Given the description of an element on the screen output the (x, y) to click on. 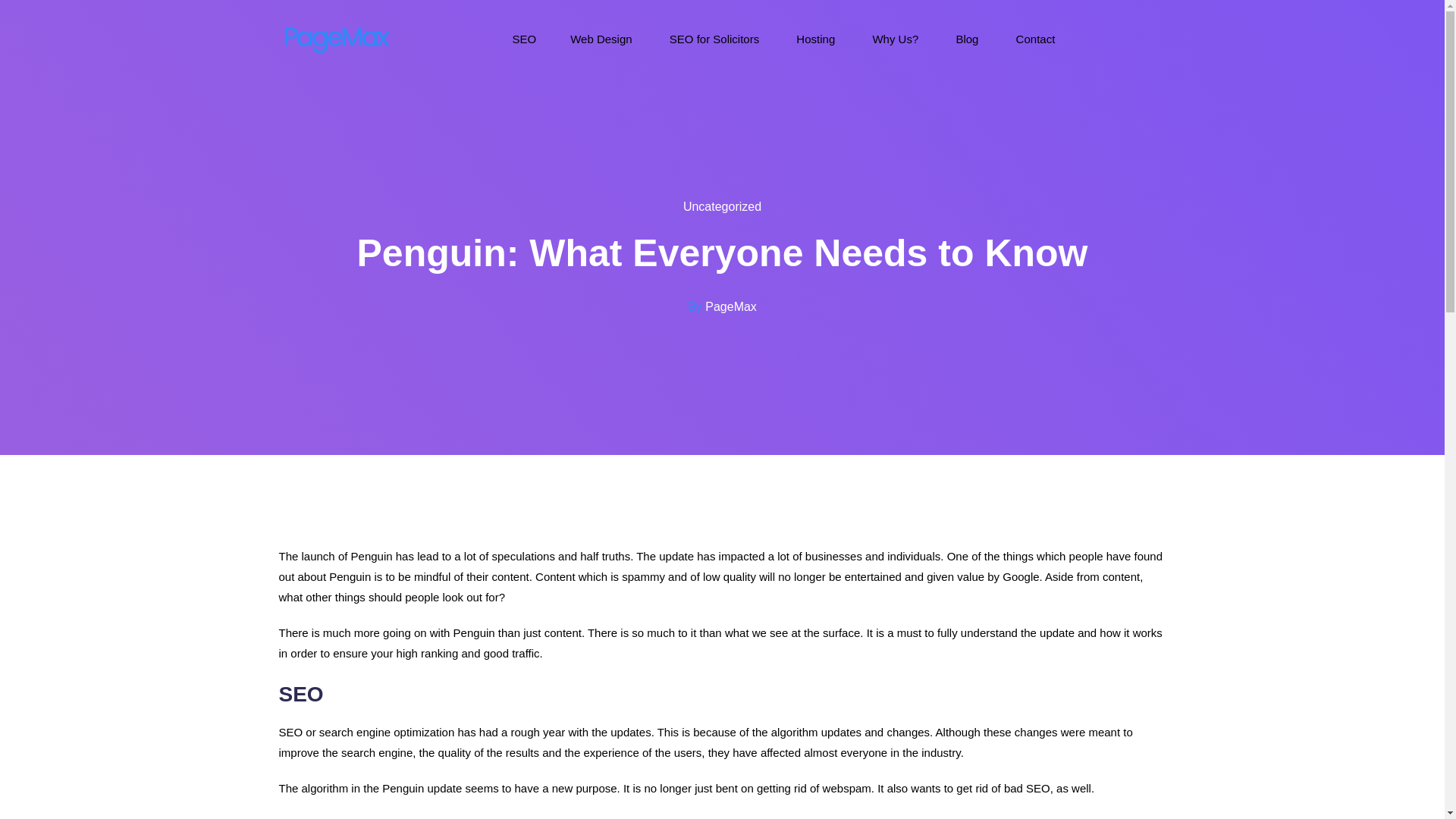
Blog (968, 38)
Uncategorized (721, 205)
PageMax (730, 306)
SEO for Solicitors (715, 38)
Blog  (968, 38)
SEO for Solicitors  (715, 38)
Why Us?  (896, 38)
Hosting  (817, 38)
SEO (524, 38)
Web Design (602, 38)
